Given the description of an element on the screen output the (x, y) to click on. 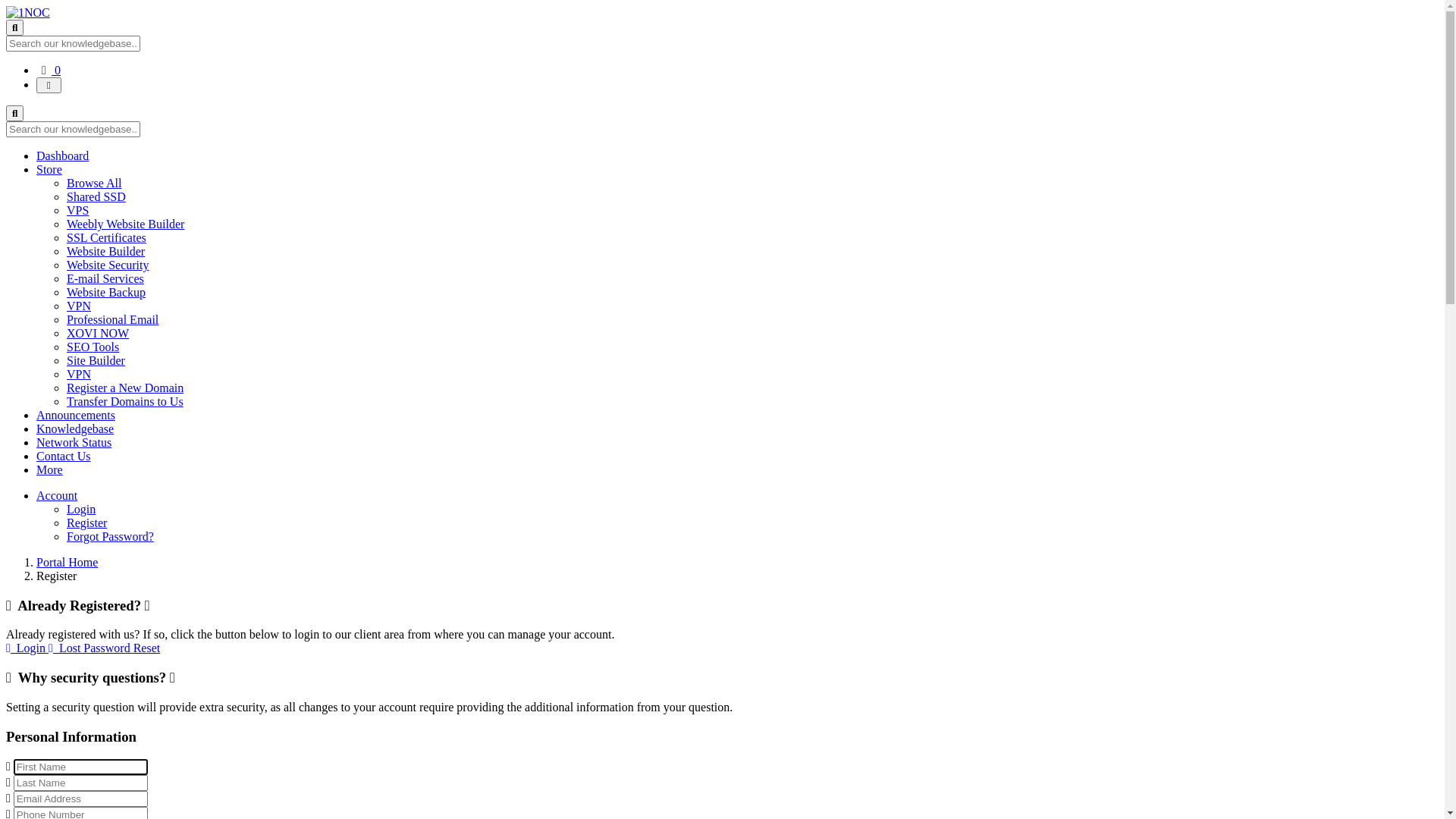
Browse All Element type: text (93, 182)
E-mail Services Element type: text (105, 278)
SEO Tools Element type: text (92, 346)
Contact Us Element type: text (63, 455)
Login Element type: text (80, 508)
Transfer Domains to Us Element type: text (124, 401)
Store Element type: text (49, 169)
Professional Email Element type: text (112, 319)
Knowledgebase Element type: text (74, 428)
Website Security Element type: text (107, 264)
Register a New Domain Element type: text (124, 387)
  Lost Password Reset Element type: text (104, 647)
Shared SSD Element type: text (95, 196)
SSL Certificates Element type: text (106, 237)
Forgot Password? Element type: text (109, 536)
0
Shopping Cart Element type: text (48, 69)
Register Element type: text (86, 522)
  Login Element type: text (27, 647)
VPN Element type: text (78, 373)
More Element type: text (49, 469)
Dashboard Element type: text (62, 155)
XOVI NOW Element type: text (97, 332)
Network Status Element type: text (73, 442)
Portal Home Element type: text (66, 561)
VPS Element type: text (77, 209)
Announcements Element type: text (75, 414)
Account Element type: text (56, 495)
Weebly Website Builder Element type: text (125, 223)
VPN Element type: text (78, 305)
Website Builder Element type: text (105, 250)
Website Backup Element type: text (105, 291)
Site Builder Element type: text (95, 360)
